Given the description of an element on the screen output the (x, y) to click on. 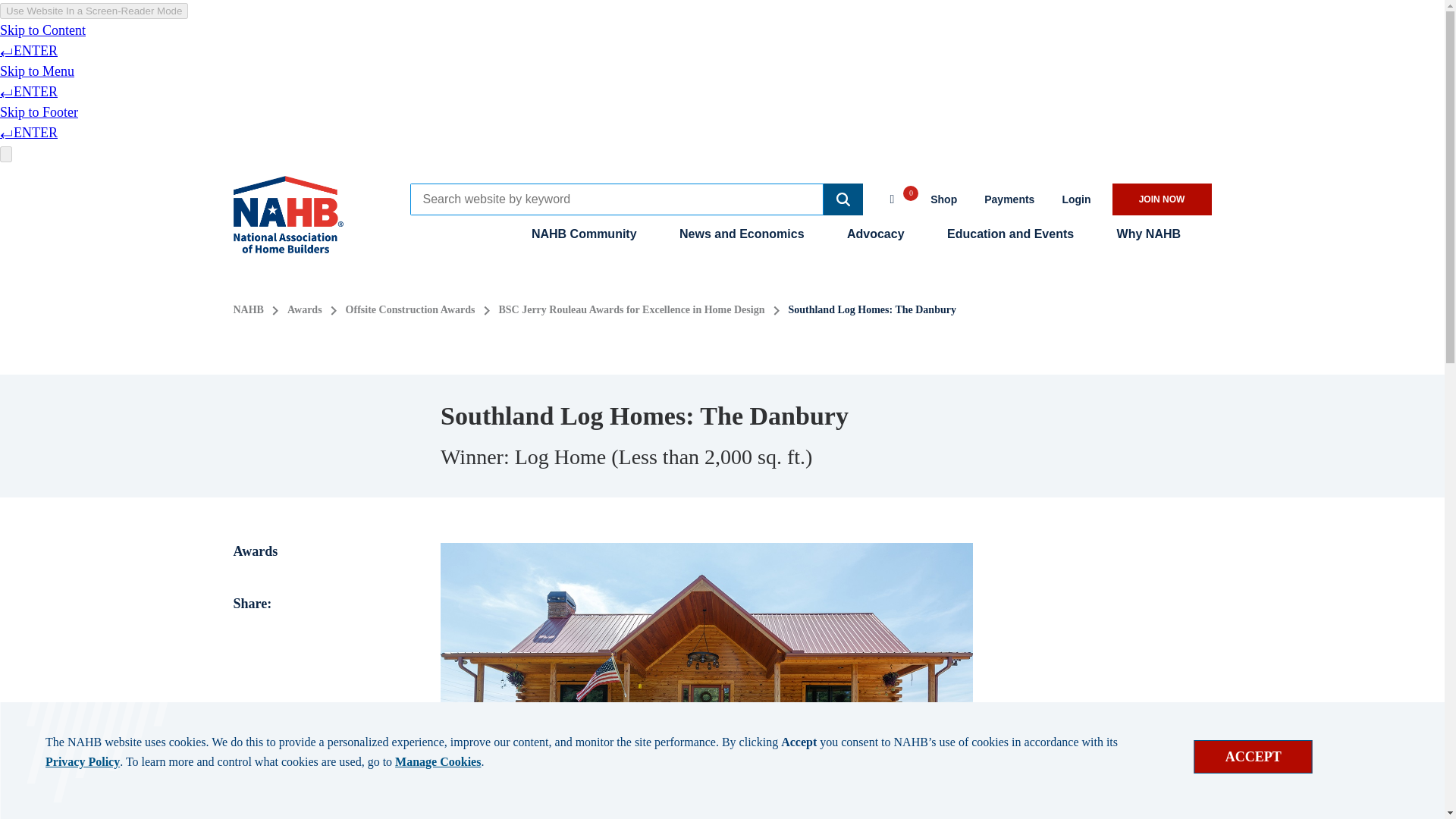
Shop (944, 199)
Click here to view the cart (899, 197)
Opens a page in a new window (1009, 199)
Login (1075, 199)
Opens a page in a new window (944, 199)
0 (899, 197)
Opens a page (1075, 199)
JOIN NOW (1161, 199)
Payments (1009, 199)
Opens a page (1161, 199)
Insert a query. Press enter to send (616, 199)
